Given the description of an element on the screen output the (x, y) to click on. 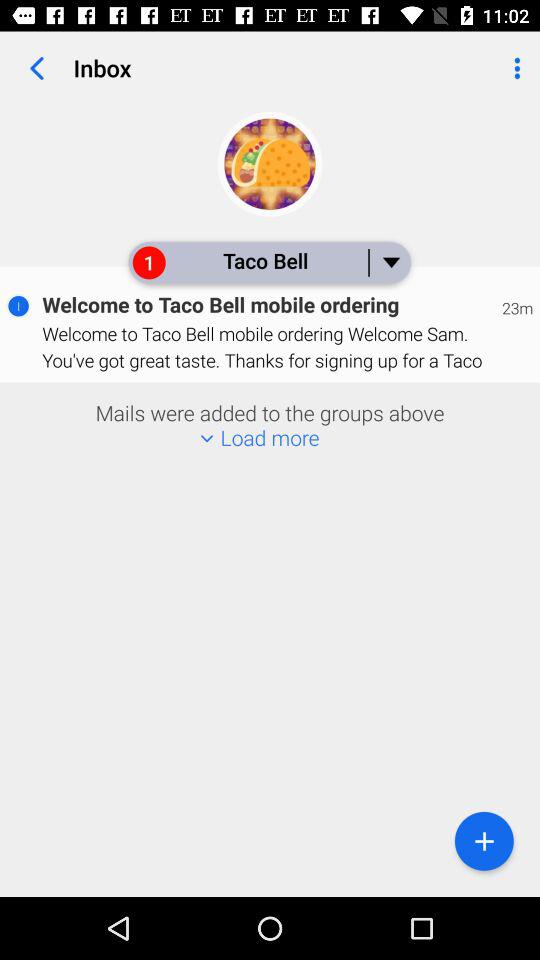
select the item next to inbox item (513, 67)
